Given the description of an element on the screen output the (x, y) to click on. 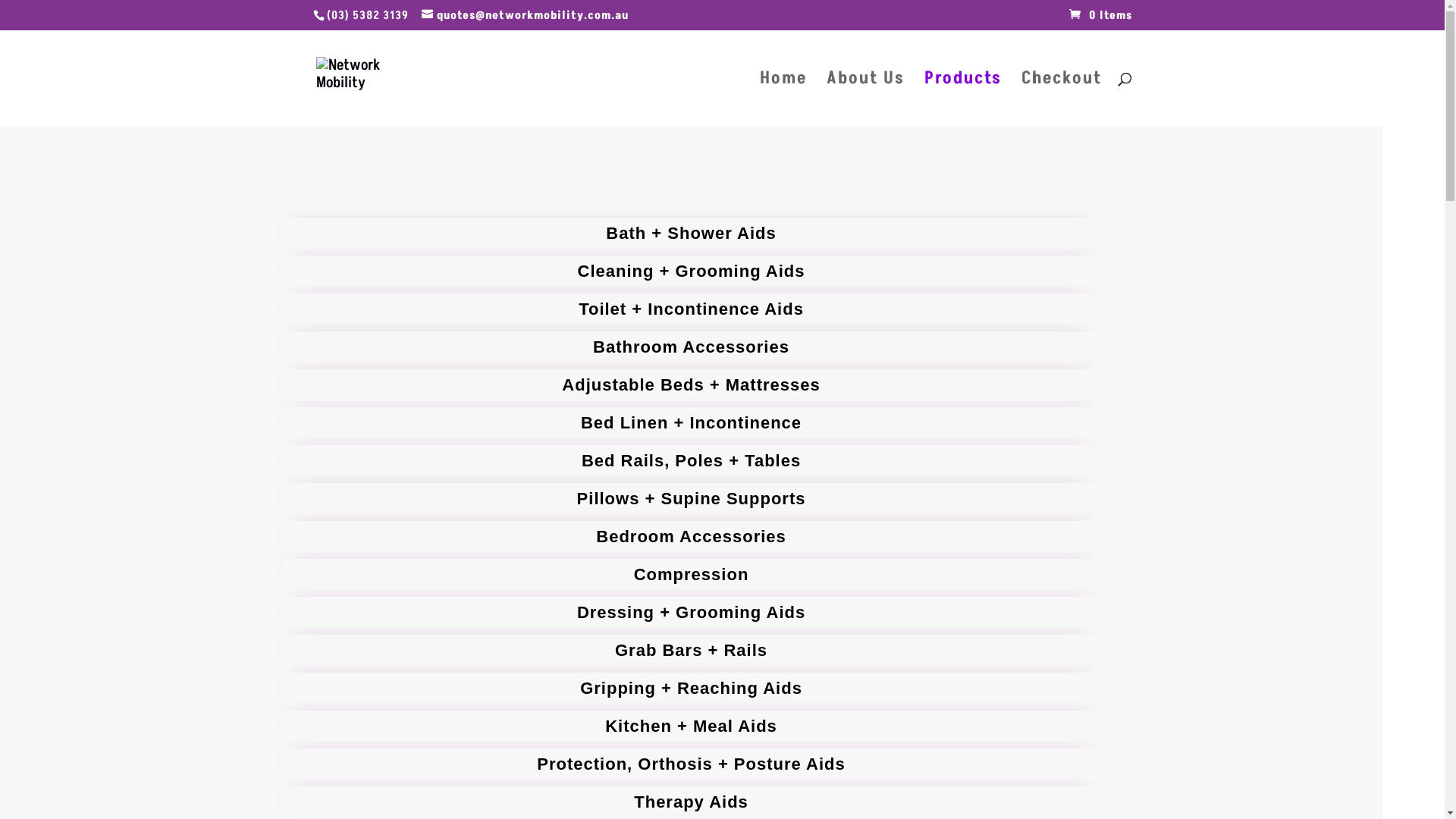
About Us Element type: text (865, 98)
Protection, Orthosis + Posture Aids Element type: text (691, 764)
Kitchen + Meal Aids Element type: text (691, 726)
Grab Bars + Rails Element type: text (691, 650)
0 Items Element type: text (1100, 15)
Cleaning + Grooming Aids Element type: text (691, 271)
Bathroom Accessories Element type: text (691, 347)
Gripping + Reaching Aids Element type: text (691, 688)
Compression Element type: text (691, 574)
Therapy Aids Element type: text (691, 802)
Gripping + Reaching Aids Element type: text (691, 688)
Adjustable Beds + Mattresses Element type: text (691, 384)
quotes@networkmobility.com.au Element type: text (524, 15)
Products Element type: text (962, 98)
Bed Linen + Incontinence Element type: text (691, 422)
Toilet + Incontinence Aids Element type: text (691, 309)
Therapy Aids Element type: text (691, 801)
Adjustable Beds + Mattresses Element type: text (691, 385)
Grab Bars + Rails Element type: text (691, 650)
Toilet + Incontinence Aids Element type: text (691, 309)
Checkout Element type: text (1060, 98)
Cleaning + Grooming Aids Element type: text (691, 271)
Protection, Orthosis + Posture Aids Element type: text (691, 764)
Bed Rails, Poles + Tables Element type: text (691, 460)
Bath + Shower Aids Element type: text (691, 233)
Bed Linen + Incontinence Element type: text (691, 423)
Bedroom Accessories Element type: text (691, 536)
Pillows + Supine Supports Element type: text (691, 498)
Compression Element type: text (691, 574)
Bedroom Accessories Element type: text (691, 536)
Bath + Shower Aids Element type: text (691, 233)
Bathroom Accessories Element type: text (691, 346)
Home Element type: text (782, 98)
Dressing + Grooming Aids Element type: text (691, 612)
Kitchen + Meal Aids Element type: text (691, 726)
Bed Rails, Poles + Tables Element type: text (691, 460)
Dressing + Grooming Aids Element type: text (691, 612)
Pillows + Supine Supports Element type: text (691, 498)
